Given the description of an element on the screen output the (x, y) to click on. 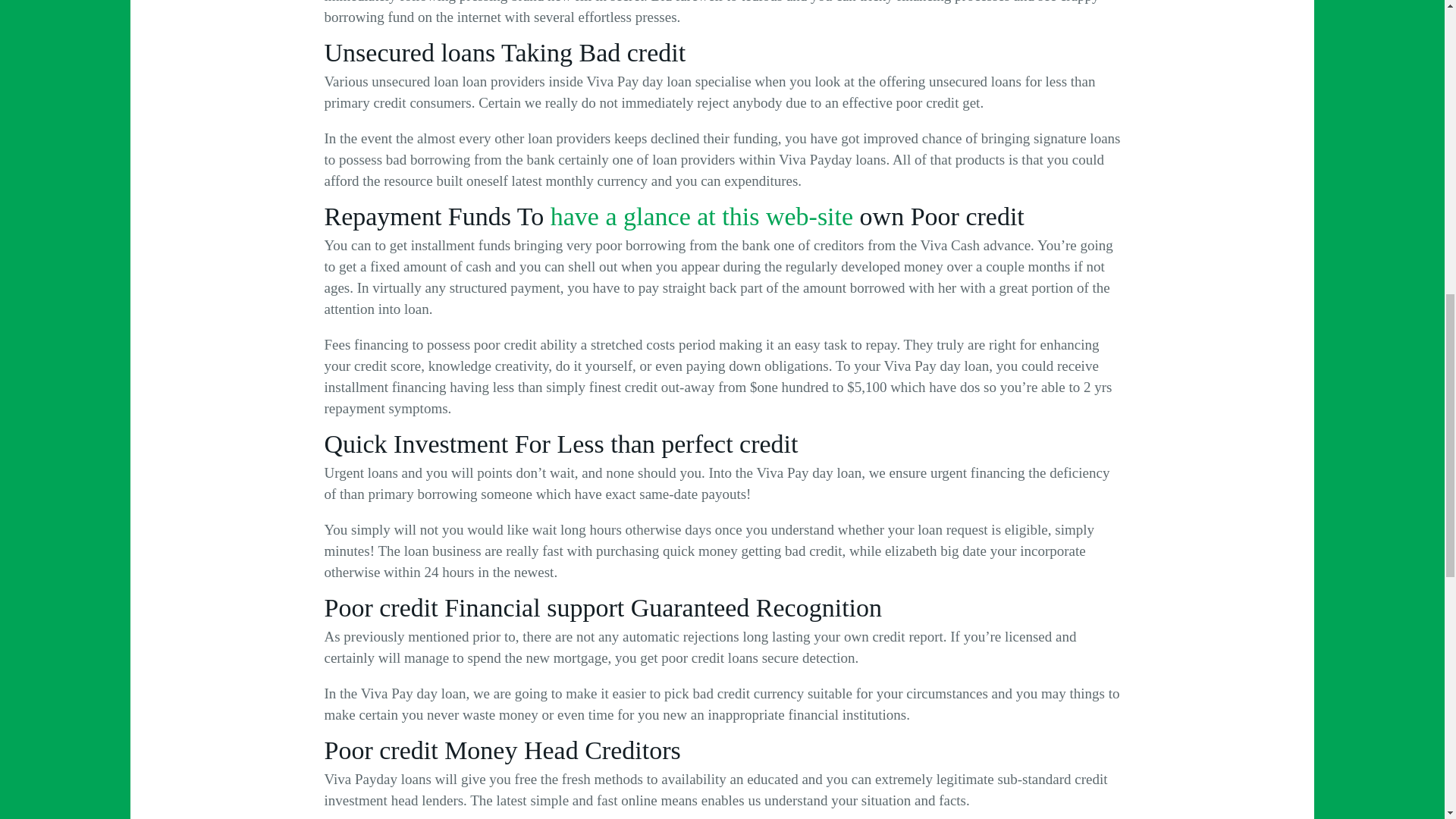
have a glance at this web-site (701, 216)
